Given the description of an element on the screen output the (x, y) to click on. 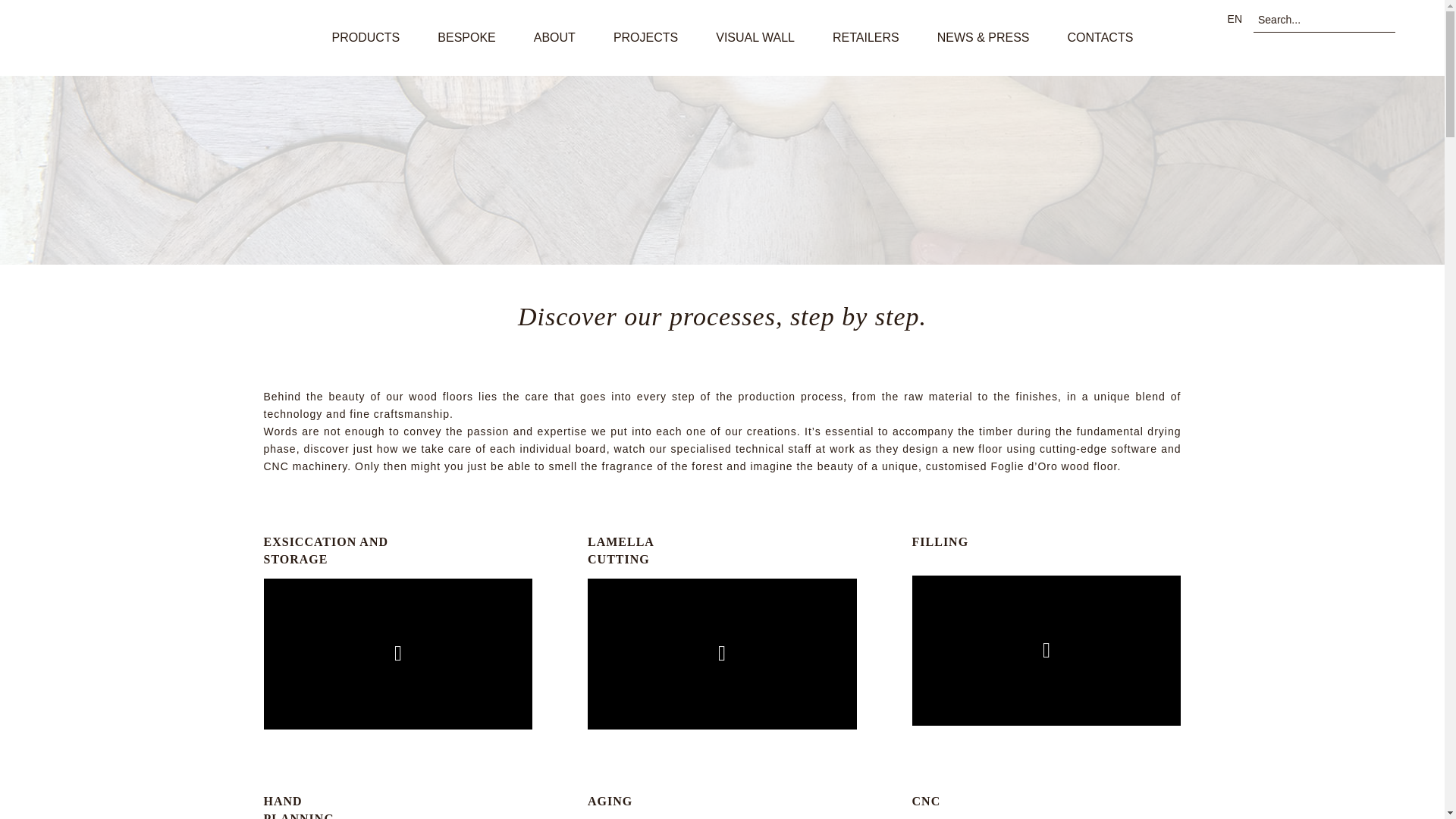
VISUAL WALL (755, 38)
ABOUT (554, 38)
CONTACTS (1100, 38)
BESPOKE (466, 38)
EN (1234, 19)
PRODUCTS (366, 38)
PROJECTS (645, 38)
RETAILERS (865, 38)
